Given the description of an element on the screen output the (x, y) to click on. 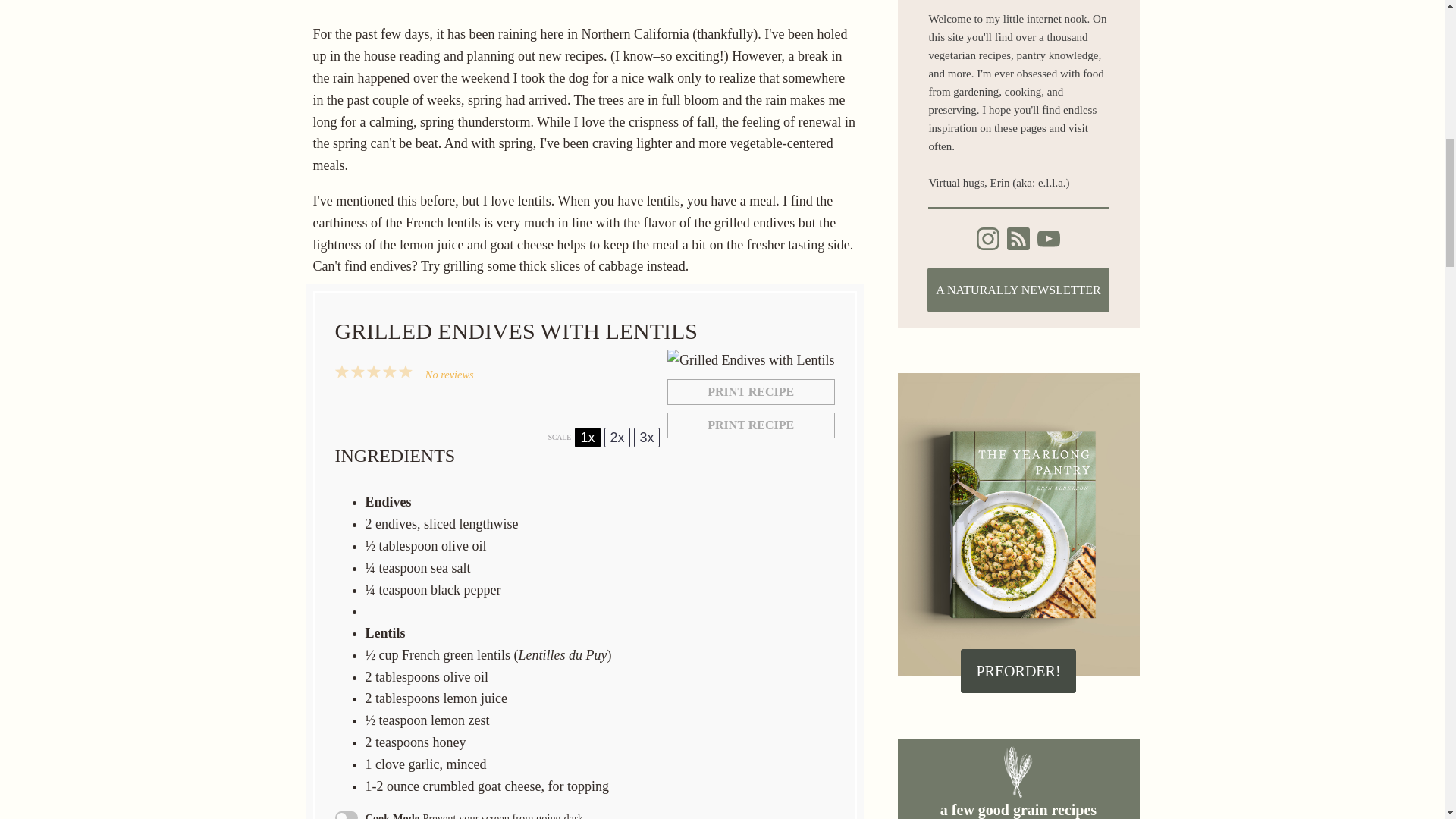
2x (617, 437)
1x (587, 437)
PRINT RECIPE (750, 391)
3x (646, 437)
PRINT RECIPE (750, 425)
